Given the description of an element on the screen output the (x, y) to click on. 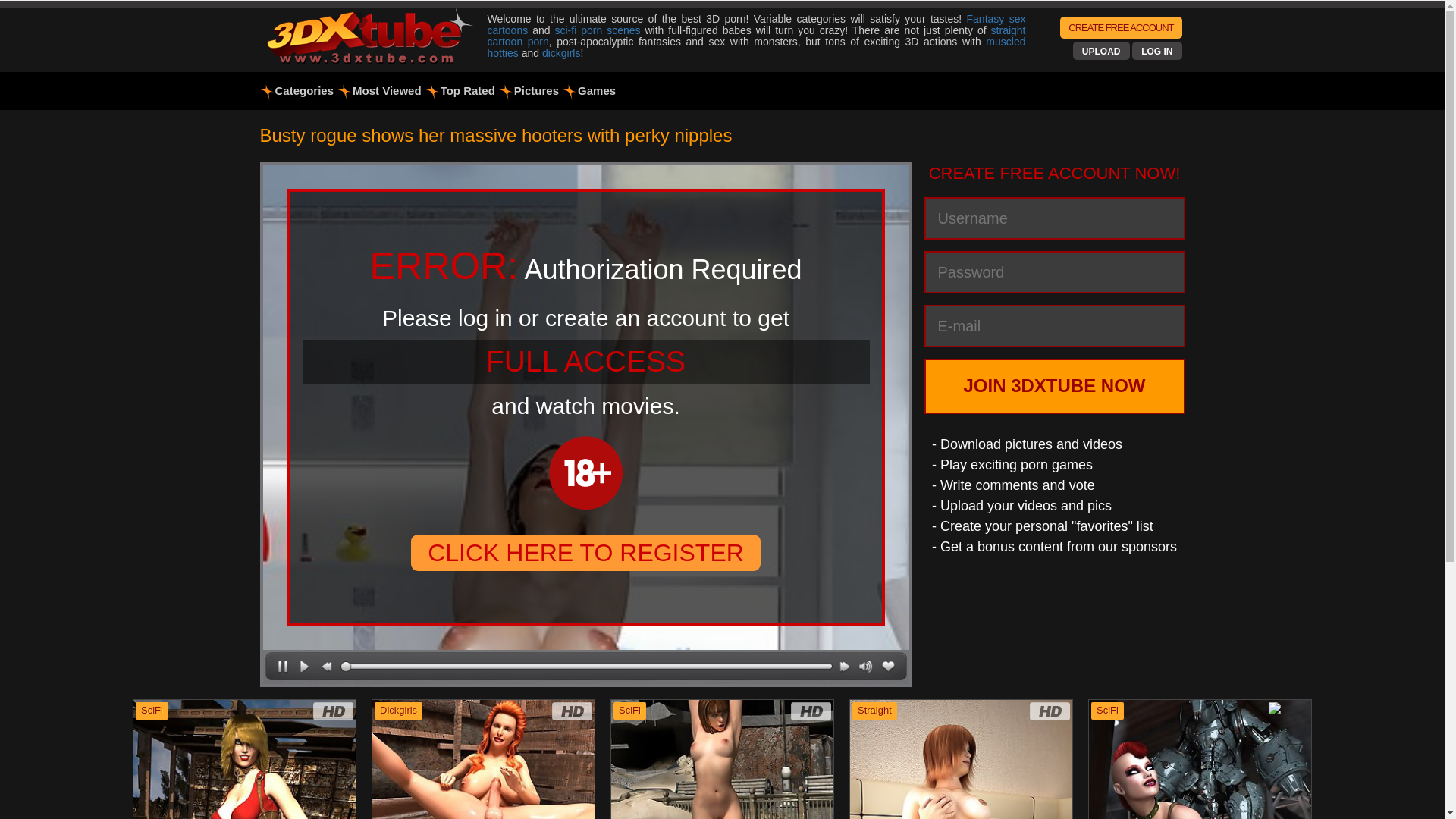
CLICK HERE TO REGISTER Element type: text (585, 552)
Fantasy sex cartoons Element type: text (755, 24)
UPLOAD Element type: text (1101, 51)
LOG IN Element type: text (1156, 51)
muscled hotties Element type: text (755, 47)
Games Element type: text (590, 90)
Pictures Element type: text (530, 90)
CREATE FREE ACCOUNT Element type: text (1120, 27)
Dickgirls Element type: text (398, 710)
SciFi Element type: text (152, 710)
SciFi Element type: text (629, 710)
straight cartoon porn Element type: text (755, 35)
SciFi Element type: text (1107, 710)
Most Viewed Element type: text (381, 90)
sci-fi porn scenes Element type: text (597, 30)
Categories Element type: text (298, 90)
dickgirls Element type: text (561, 53)
Straight Element type: text (874, 710)
JOIN 3DXTUBE NOW Element type: text (1053, 385)
Top Rated Element type: text (461, 90)
